Given the description of an element on the screen output the (x, y) to click on. 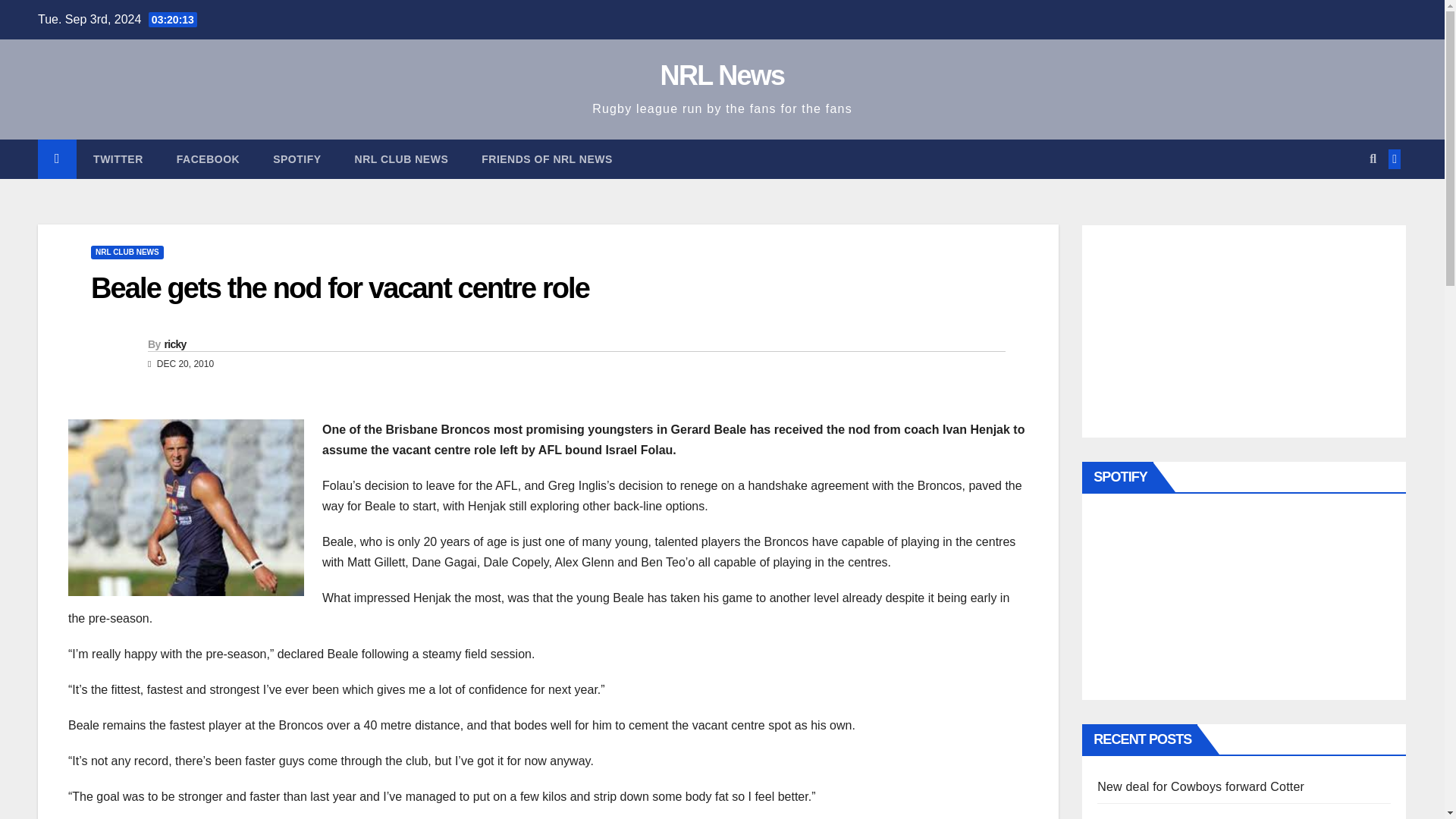
Beale gets the nod for vacant centre role (339, 287)
Friends of NRL News (546, 159)
Permalink to: Beale gets the nod for vacant centre role (339, 287)
ricky (174, 344)
Spotify (296, 159)
NRL News (722, 74)
Twitter (118, 159)
SPOTIFY (296, 159)
NRL CLUB NEWS (401, 159)
Facebook (208, 159)
